Given the description of an element on the screen output the (x, y) to click on. 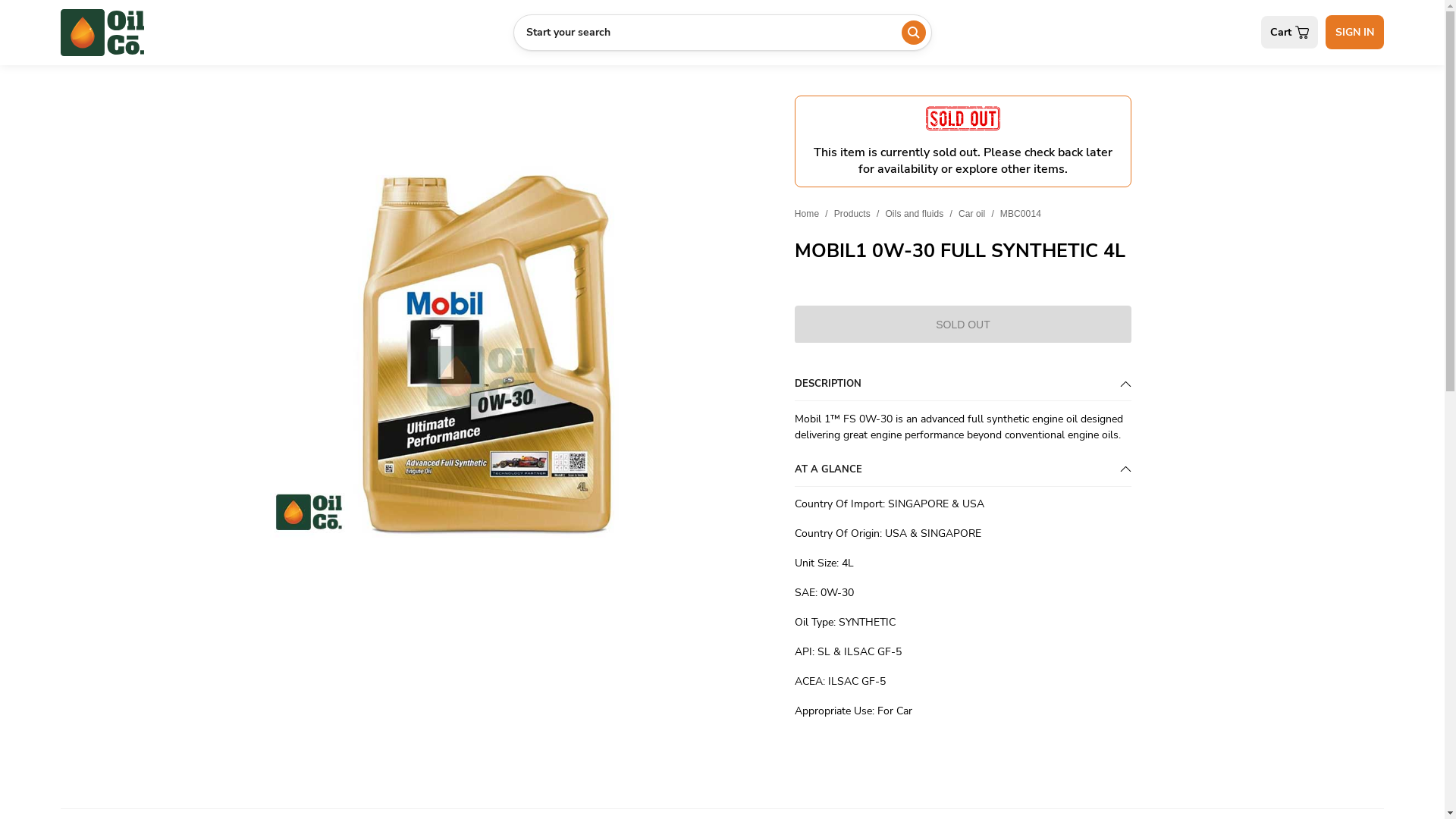
SOLD OUT Element type: text (963, 323)
Home Element type: text (806, 212)
Products Element type: text (852, 212)
Oils and fluids Element type: text (913, 212)
Cart Element type: text (1289, 31)
Car oil Element type: text (971, 212)
SIGN IN Element type: text (1354, 32)
